Given the description of an element on the screen output the (x, y) to click on. 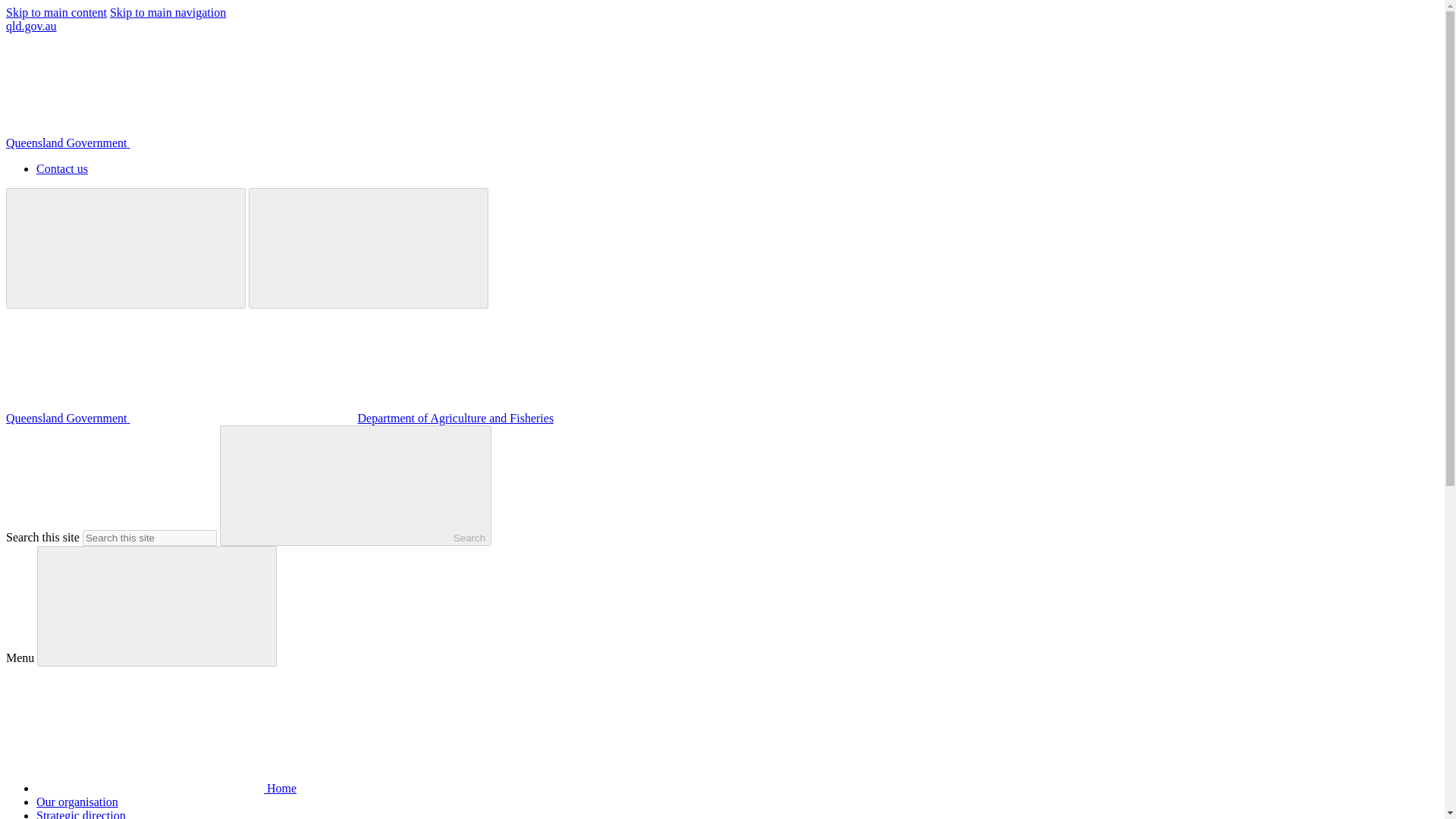
Search (355, 485)
Toggle search (125, 248)
Department of Agriculture and Fisheries (456, 418)
Search (355, 485)
Skip to main content (55, 11)
Search this site (149, 537)
Open navigation menu (367, 248)
Home (166, 788)
qld.gov.au (30, 25)
Close navigation menu (156, 606)
Our organisation (76, 801)
Home (166, 788)
Queensland Government (181, 418)
Strategic direction (80, 814)
Skip to main navigation (167, 11)
